Given the description of an element on the screen output the (x, y) to click on. 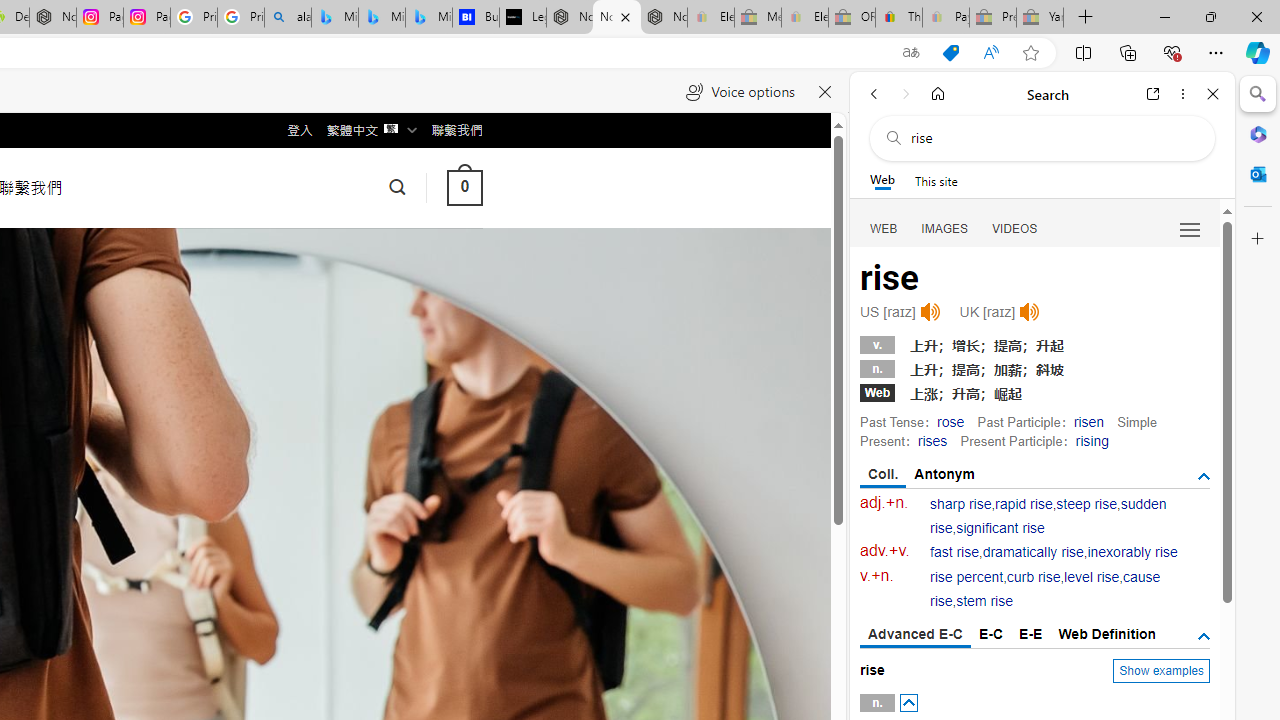
rise percent (966, 577)
  0   (464, 187)
risen (1088, 421)
Click to listen (1029, 312)
sudden rise (1048, 515)
